Given the description of an element on the screen output the (x, y) to click on. 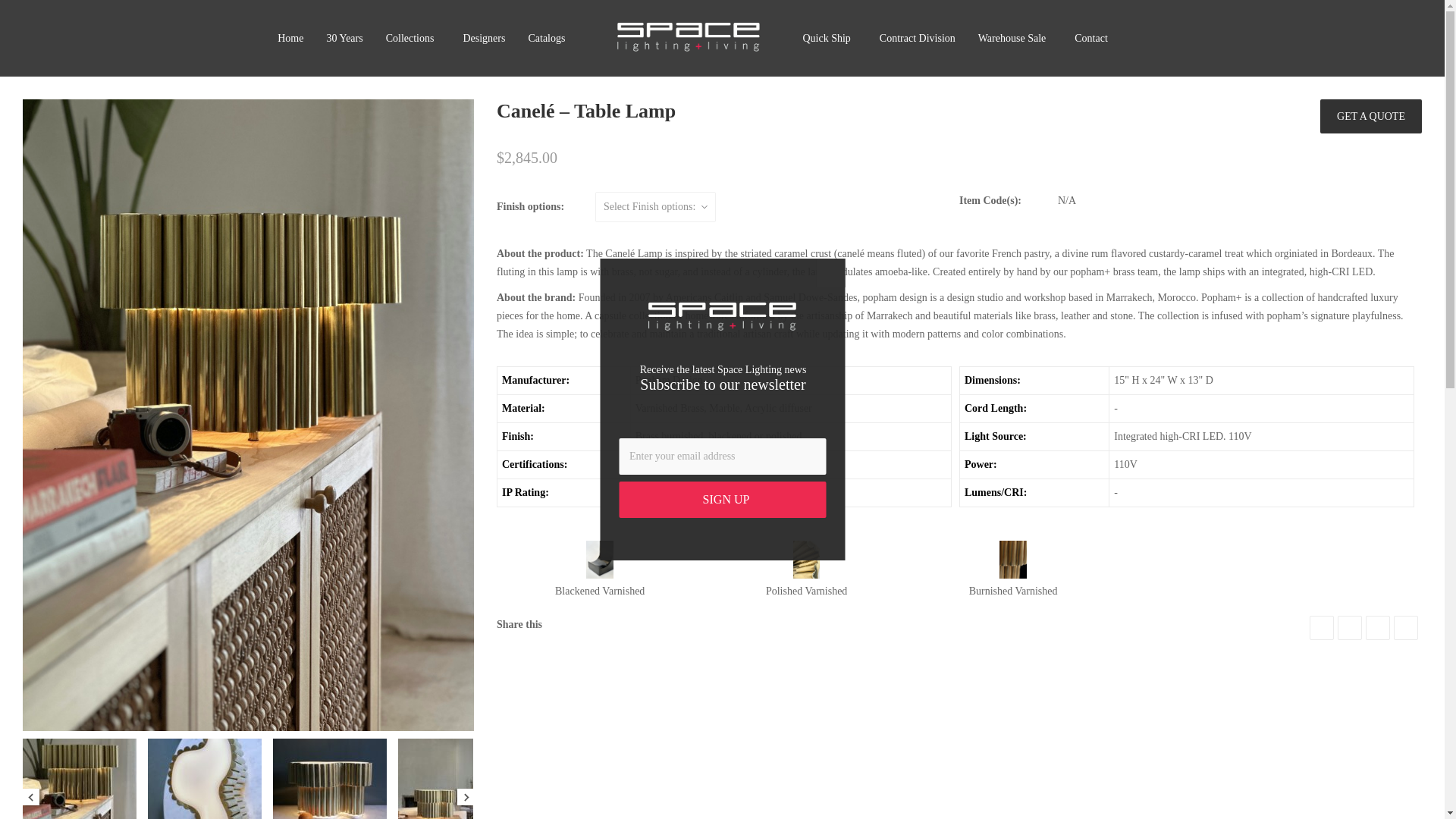
Page 11 (959, 293)
30 Years (344, 38)
Collections (412, 38)
Catalogs (549, 38)
Designers (483, 38)
Home (290, 38)
